Given the description of an element on the screen output the (x, y) to click on. 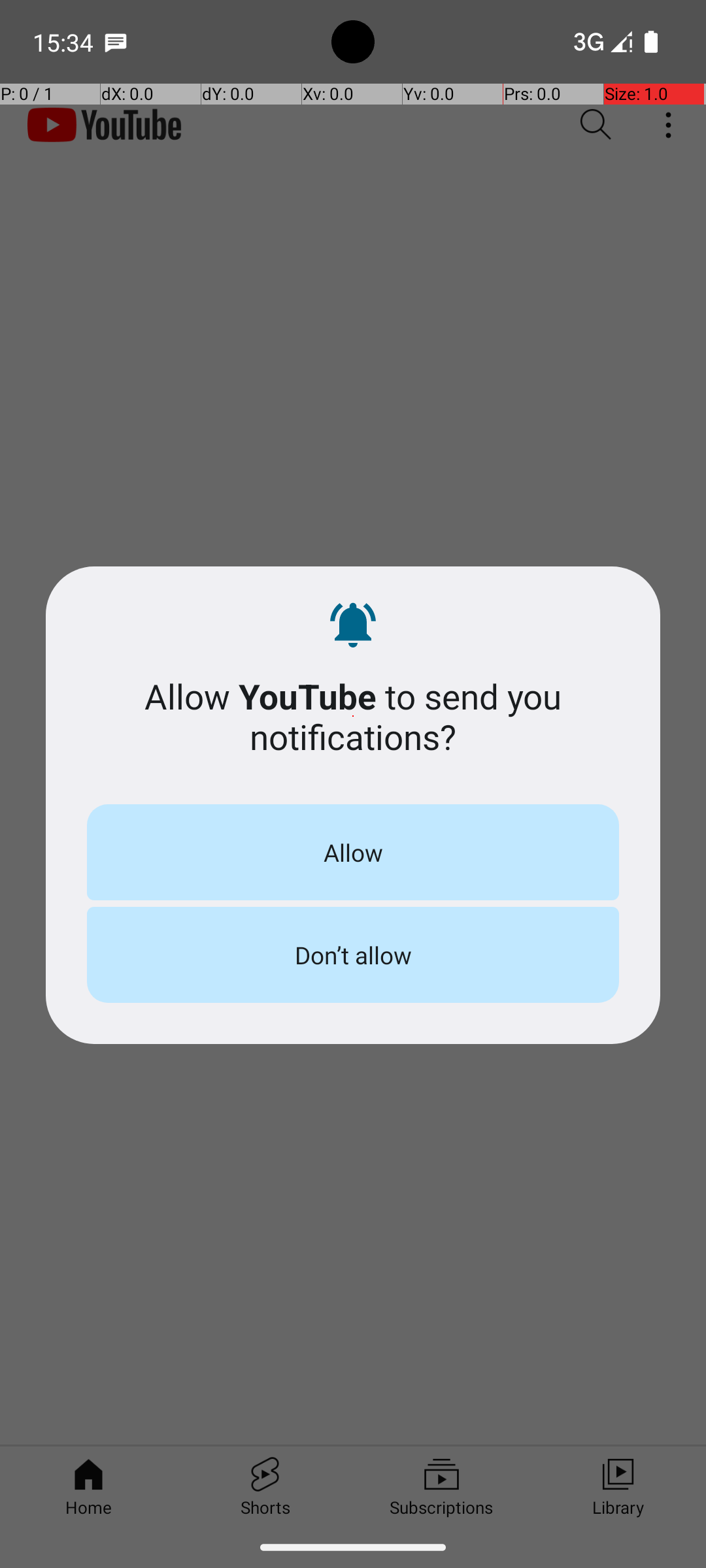
Allow YouTube to send you notifications? Element type: android.widget.TextView (352, 715)
